Given the description of an element on the screen output the (x, y) to click on. 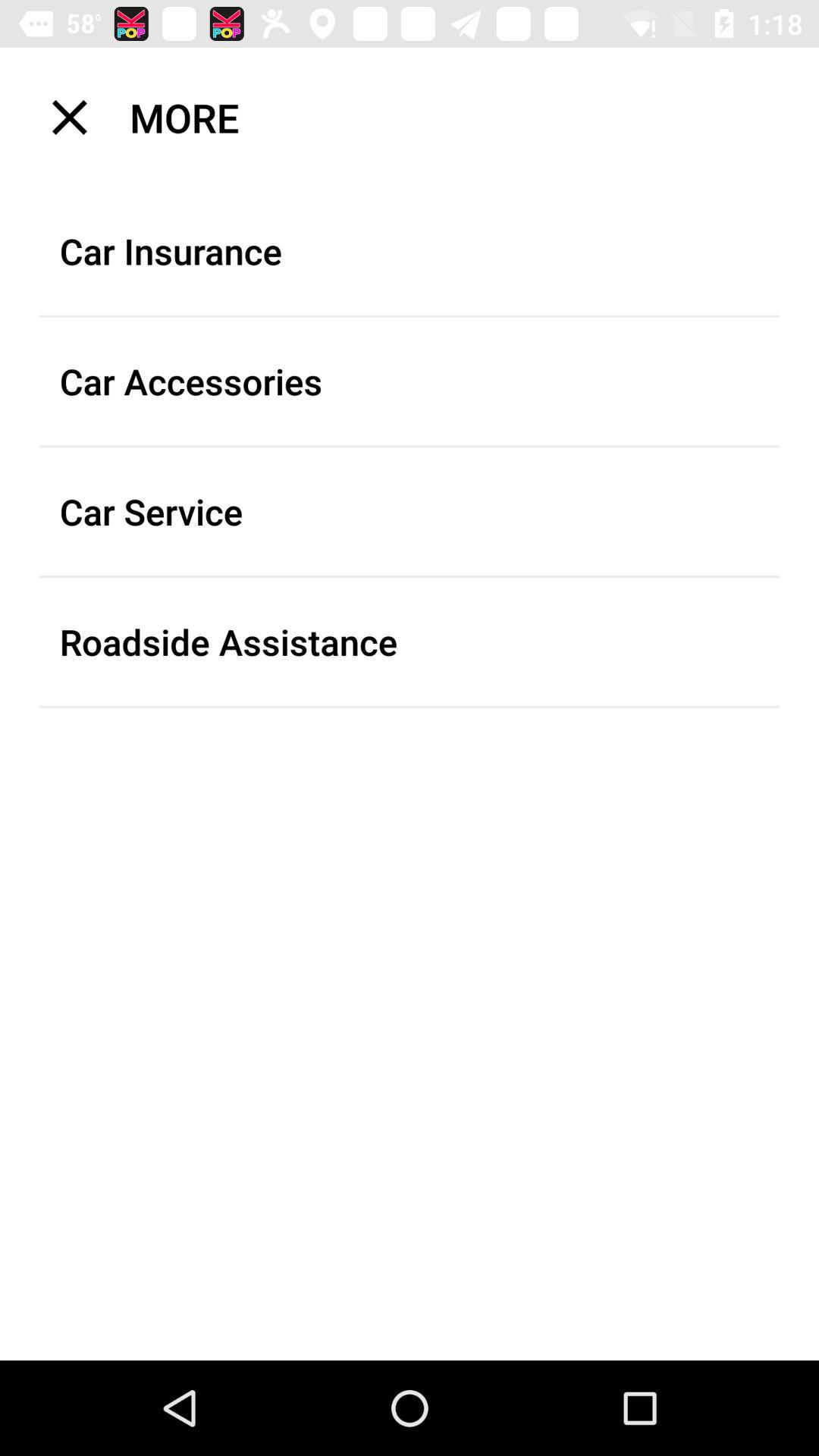
swipe to car service item (409, 511)
